Given the description of an element on the screen output the (x, y) to click on. 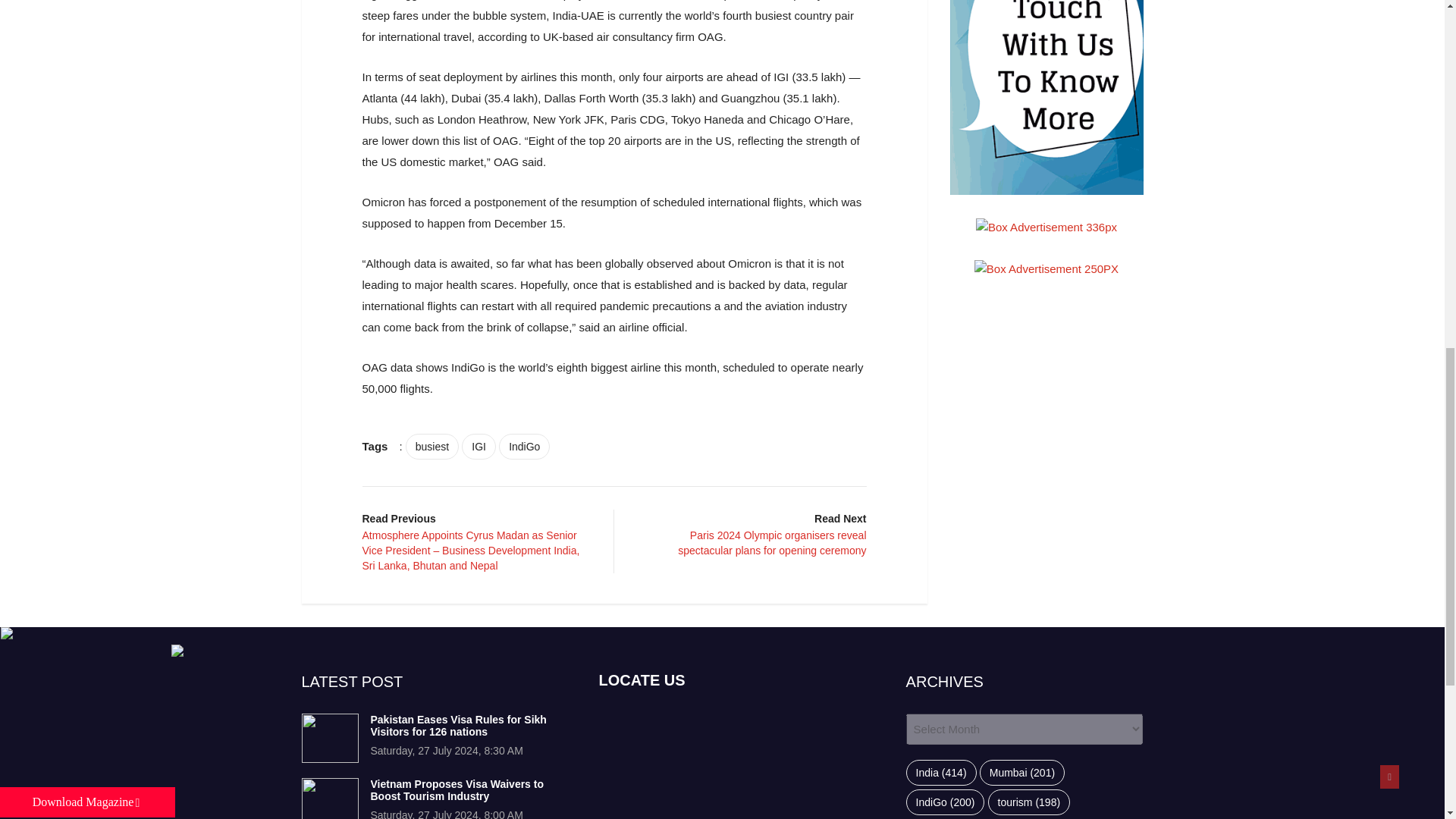
Vietnam Proposes Visa Waivers to Boost Tourism Industry (329, 798)
Pakistan Eases Visa Rules for Sikh Visitors for 126 nations (329, 737)
Vietnam Proposes Visa Waivers to Boost Tourism Industry (456, 790)
Pakistan Eases Visa Rules for Sikh Visitors for 126 nations (457, 725)
